Given the description of an element on the screen output the (x, y) to click on. 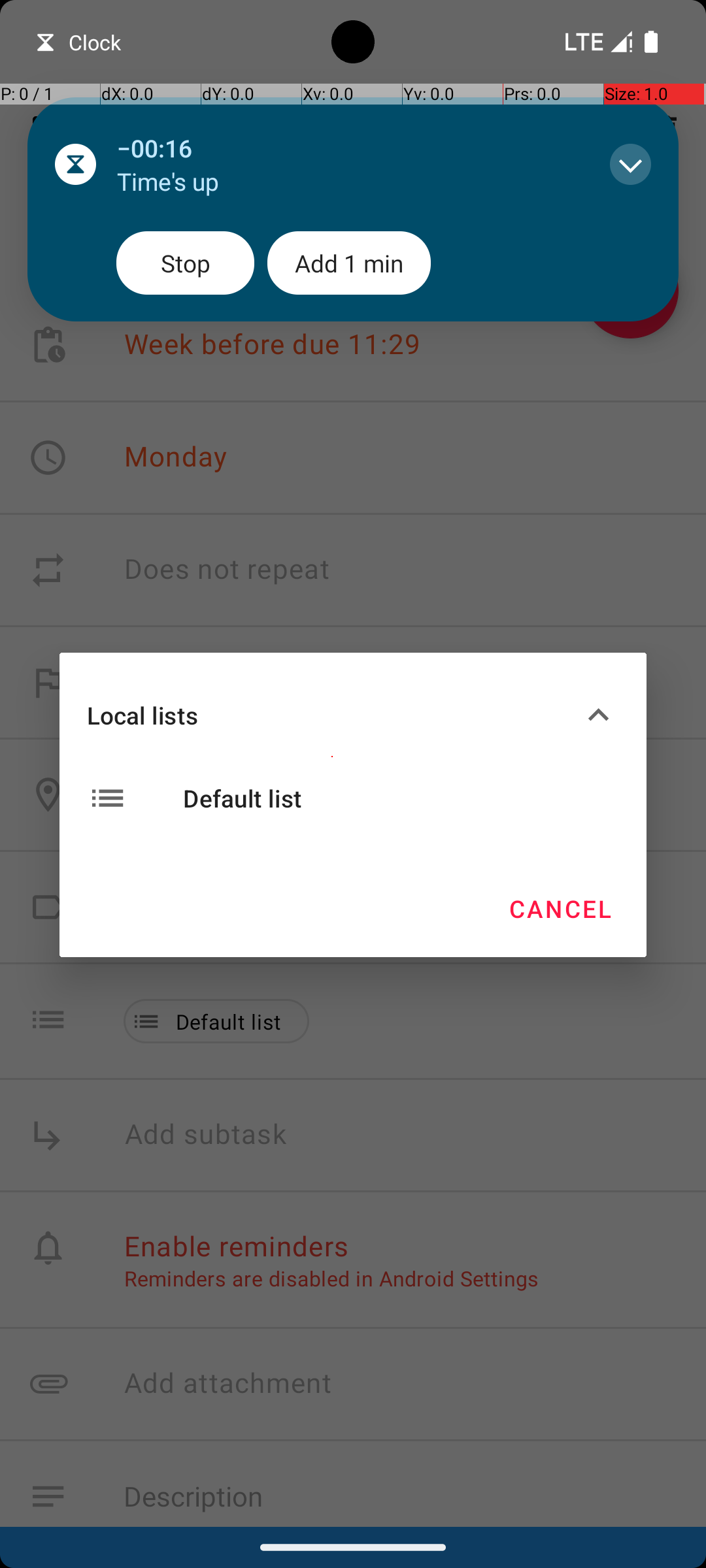
−00:16 Element type: android.widget.Chronometer (349, 147)
Time's up Element type: android.widget.TextView (349, 180)
Add 1 min Element type: android.widget.Button (348, 262)
